Given the description of an element on the screen output the (x, y) to click on. 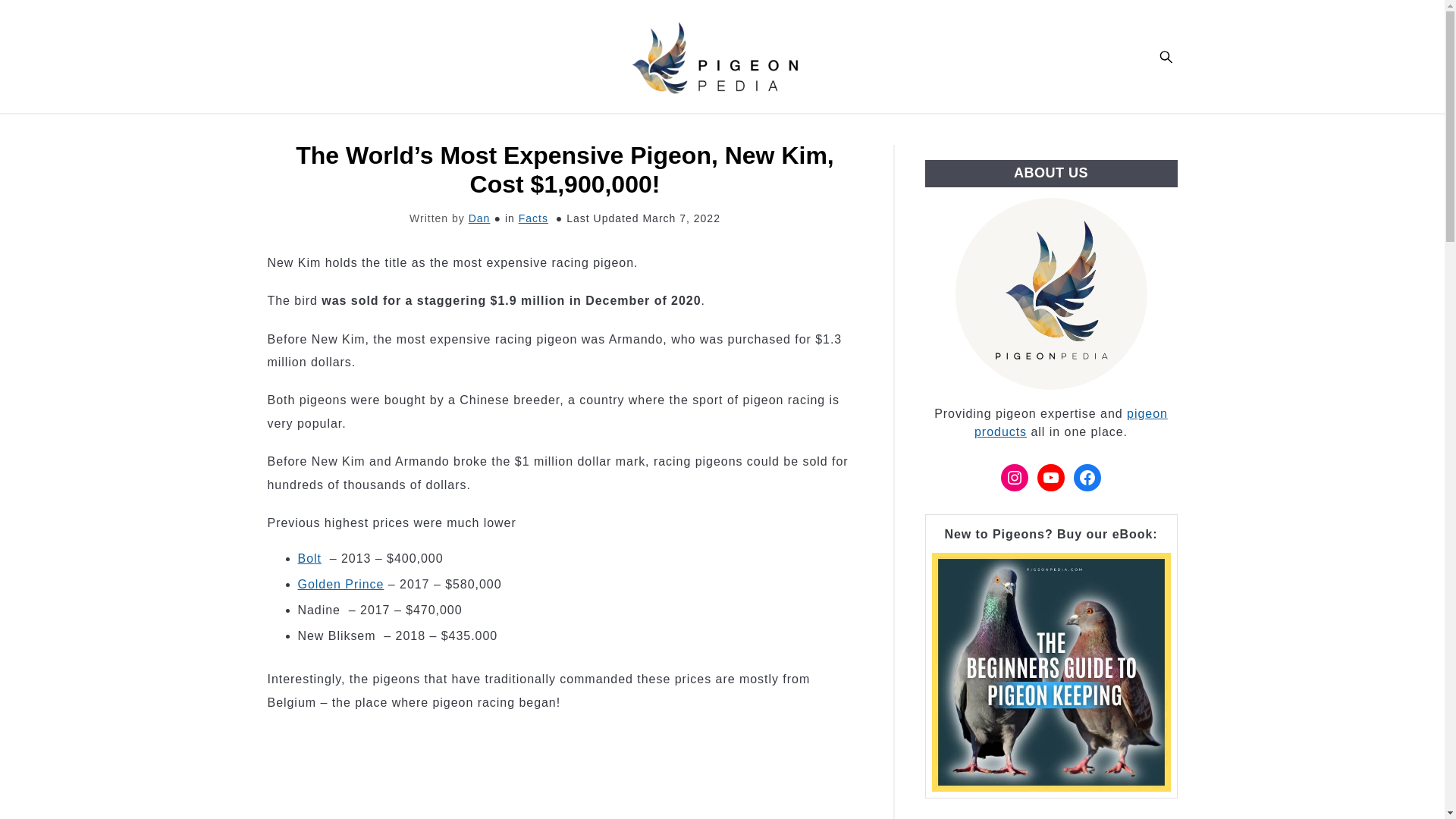
BLOG (601, 128)
YouTube video player (478, 774)
Bolt (308, 558)
SHOP (821, 128)
Dan (479, 218)
Search (1165, 56)
HOME (534, 128)
Facts (533, 218)
ABOUT (749, 128)
TOOLS (673, 128)
Golden Prince (340, 584)
CONTACT (898, 128)
